Given the description of an element on the screen output the (x, y) to click on. 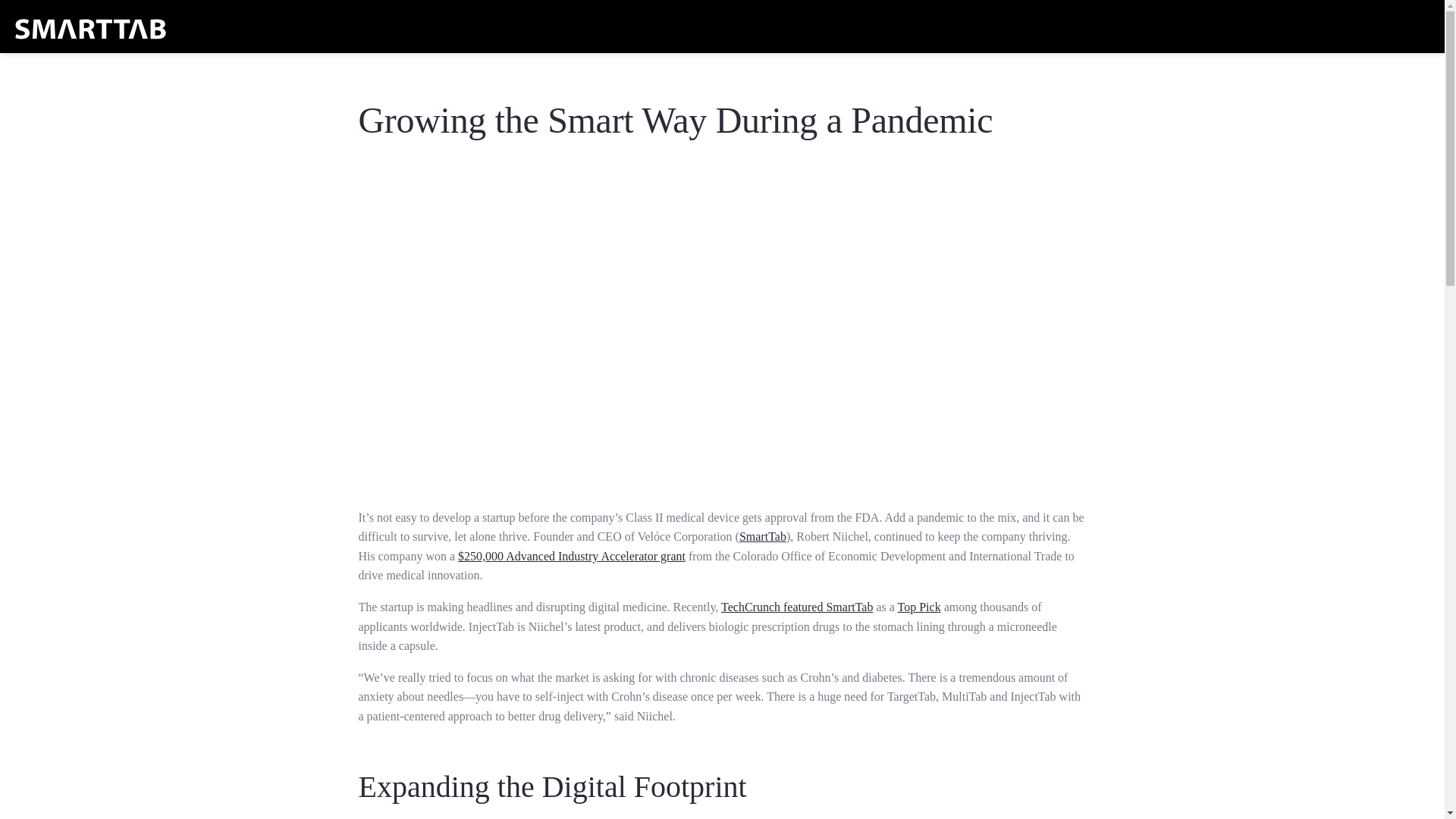
Top Pick (919, 606)
SmartTabWhite-new (90, 27)
SmartTab (762, 535)
TechCrunch featured SmartTab (796, 606)
